Given the description of an element on the screen output the (x, y) to click on. 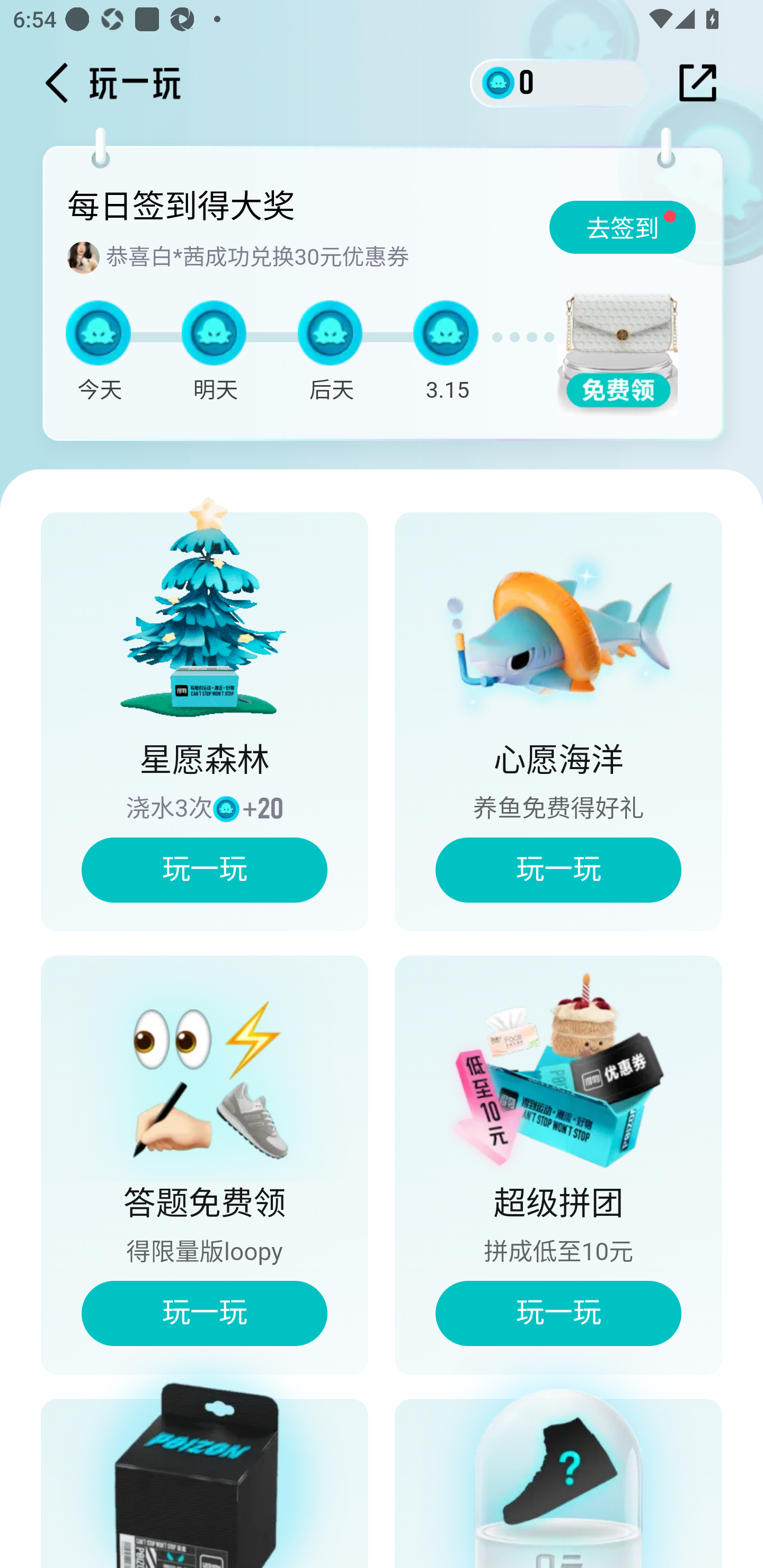
0 (559, 82)
